Given the description of an element on the screen output the (x, y) to click on. 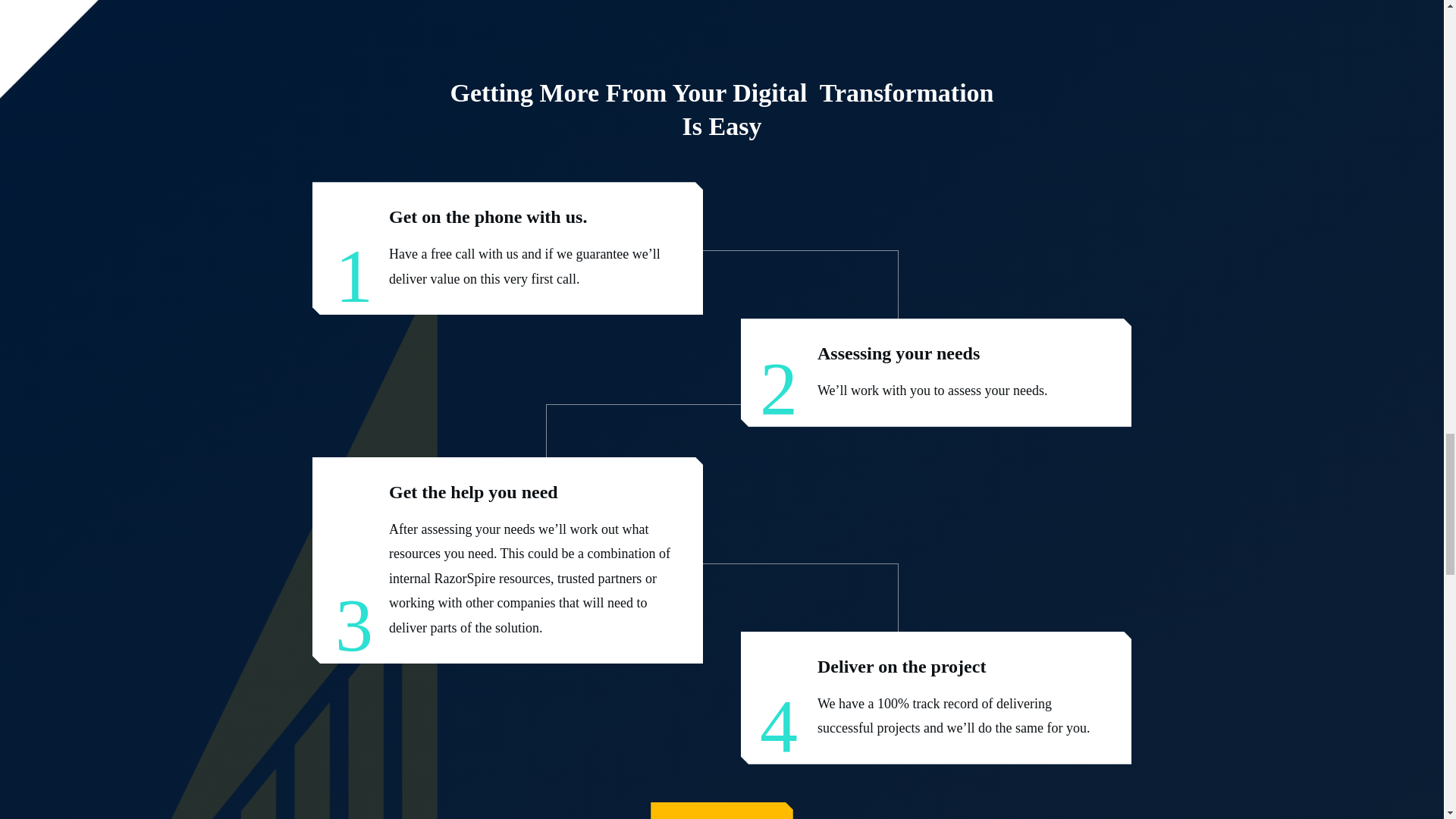
Free Consultation (721, 810)
